Given the description of an element on the screen output the (x, y) to click on. 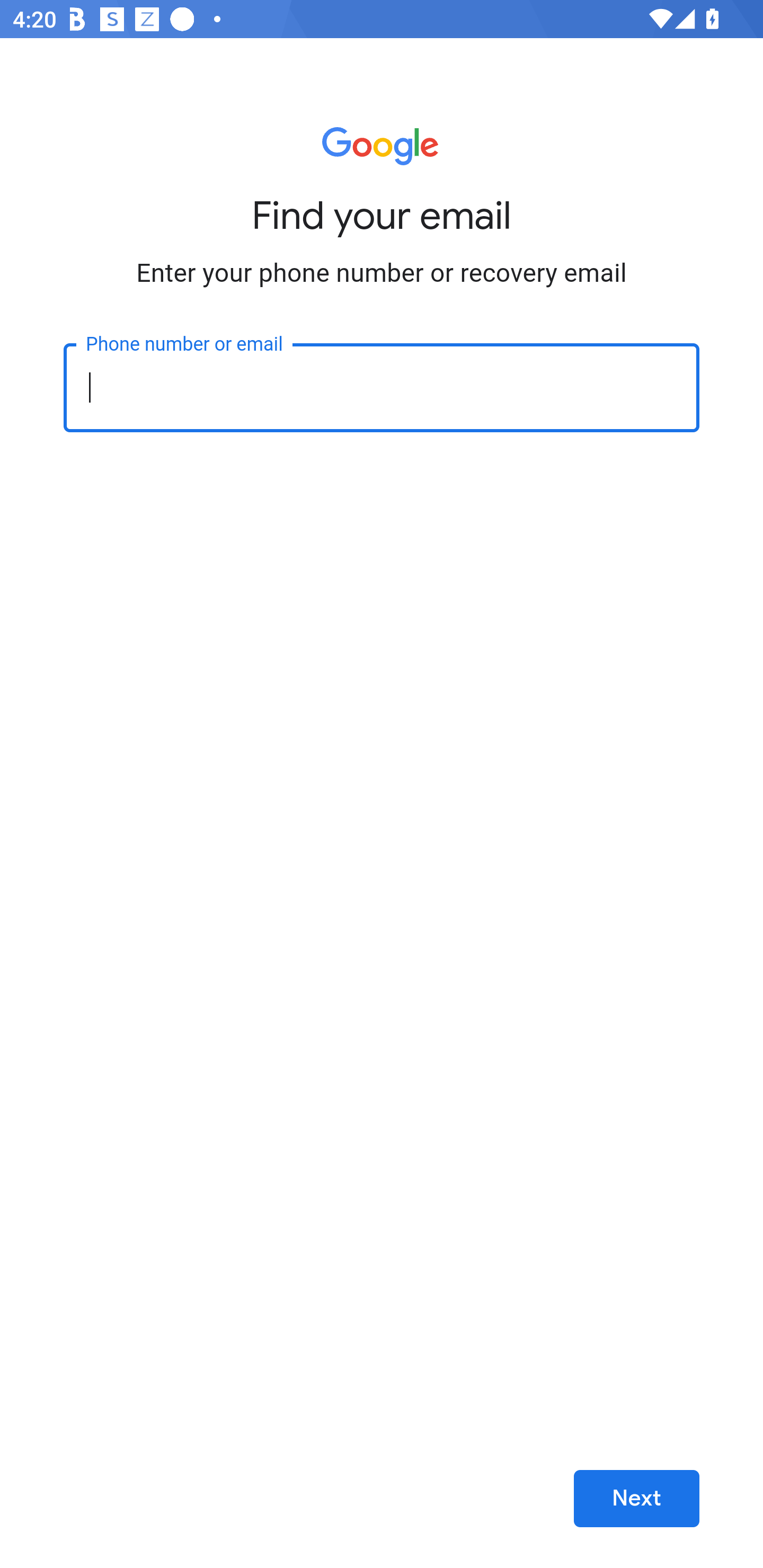
Next (635, 1498)
